Given the description of an element on the screen output the (x, y) to click on. 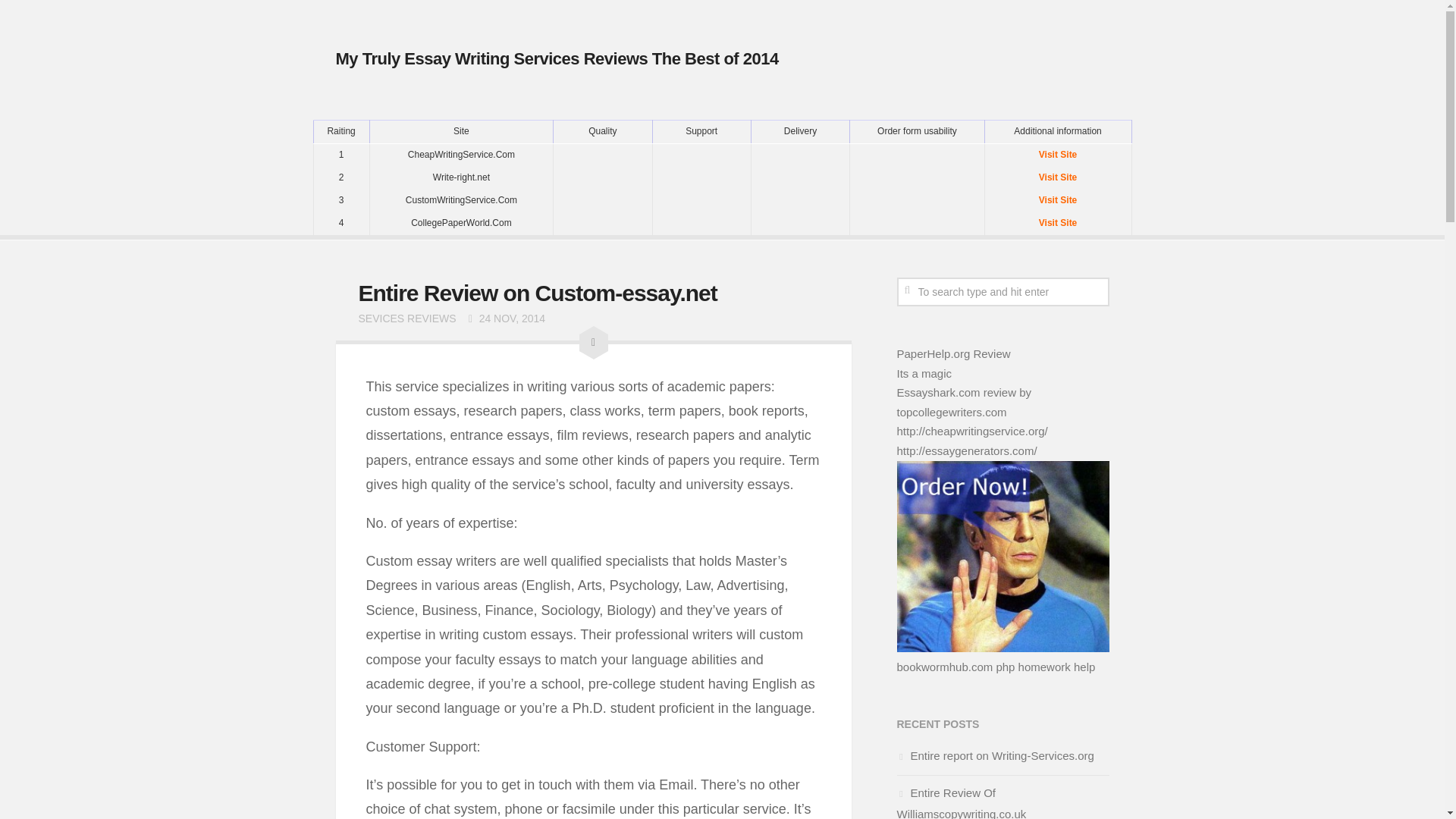
My Truly Essay Writing Services Reviews The Best of 2014 (555, 58)
To search type and hit enter (1002, 291)
Entire report on Writing-Services.org (994, 755)
To search type and hit enter (1002, 291)
Visit Site (1057, 199)
PaperHelp.org Review (953, 353)
bookwormhub.com php homework help (995, 666)
Essayshark.com review by topcollegewriters.com (963, 401)
SEVICES REVIEWS (406, 318)
Entire Review Of Williamscopywriting.co.uk (961, 802)
Visit Site (1057, 176)
Visit Site (1057, 222)
Visit Site (1057, 154)
